Given the description of an element on the screen output the (x, y) to click on. 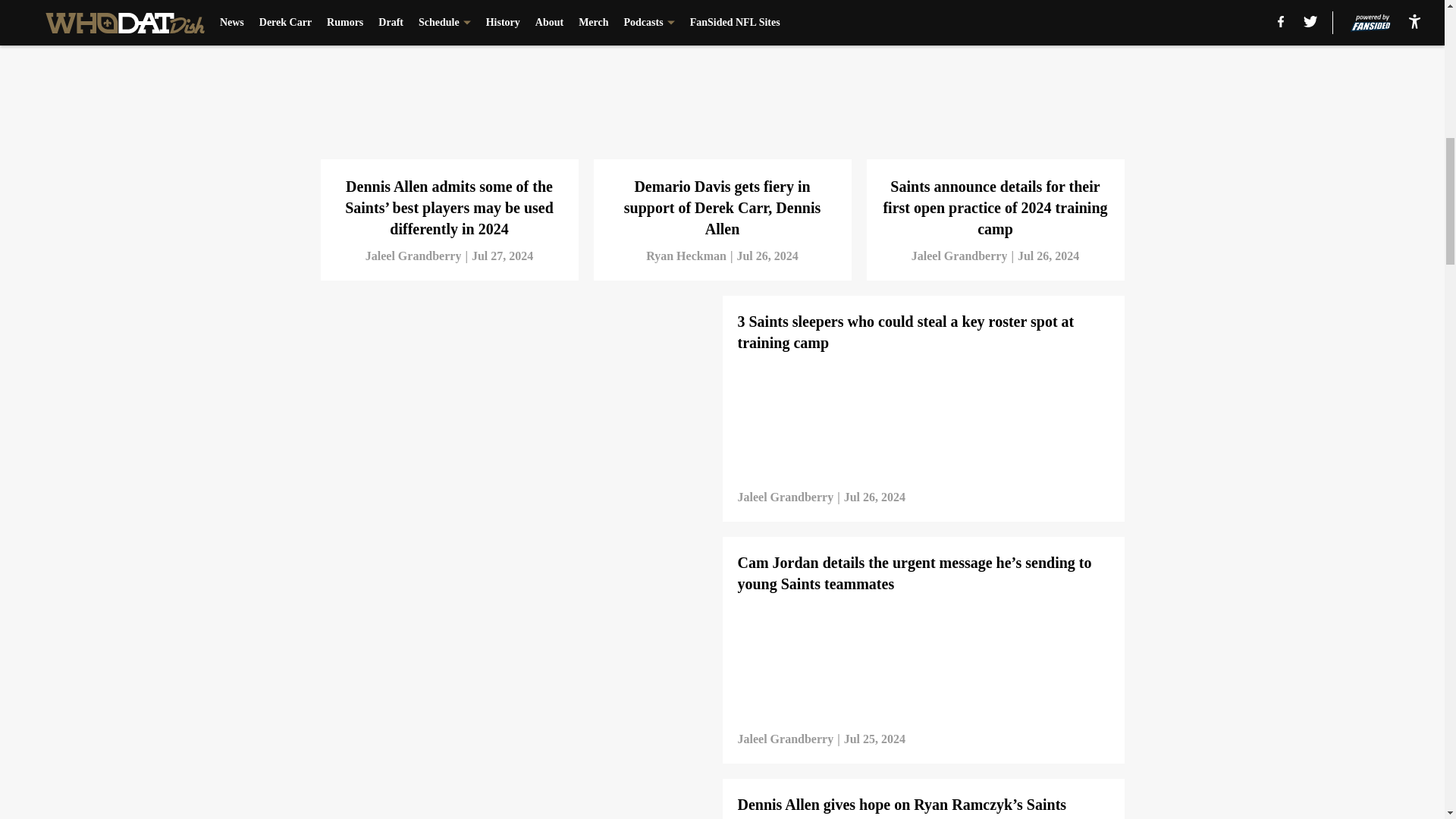
Jaleel Grandberry (413, 256)
